Given the description of an element on the screen output the (x, y) to click on. 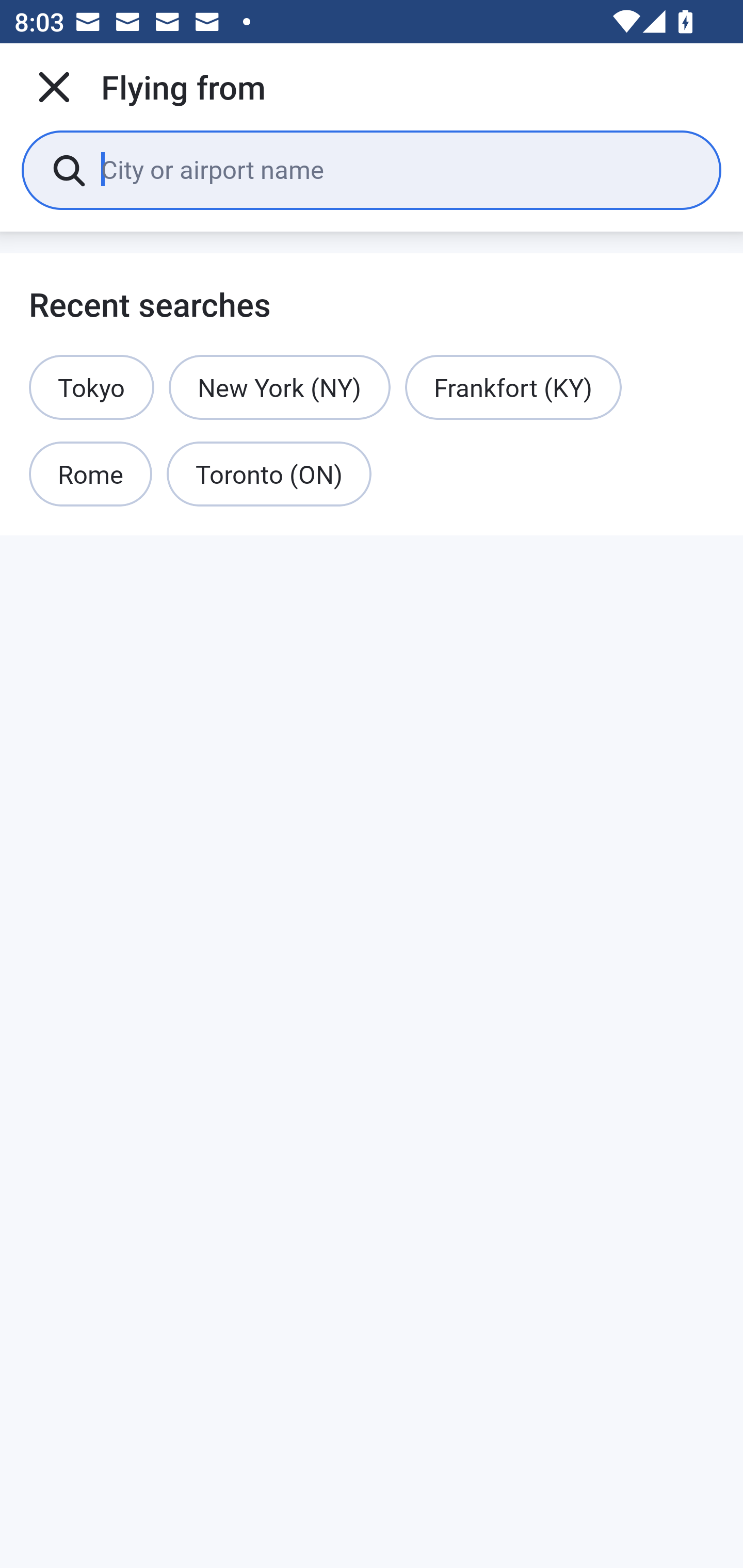
City or airport name (396, 169)
Tokyo (91, 387)
New York (NY) (279, 387)
Frankfort (KY) (512, 387)
Rome (90, 474)
Toronto (ON) (268, 474)
